Given the description of an element on the screen output the (x, y) to click on. 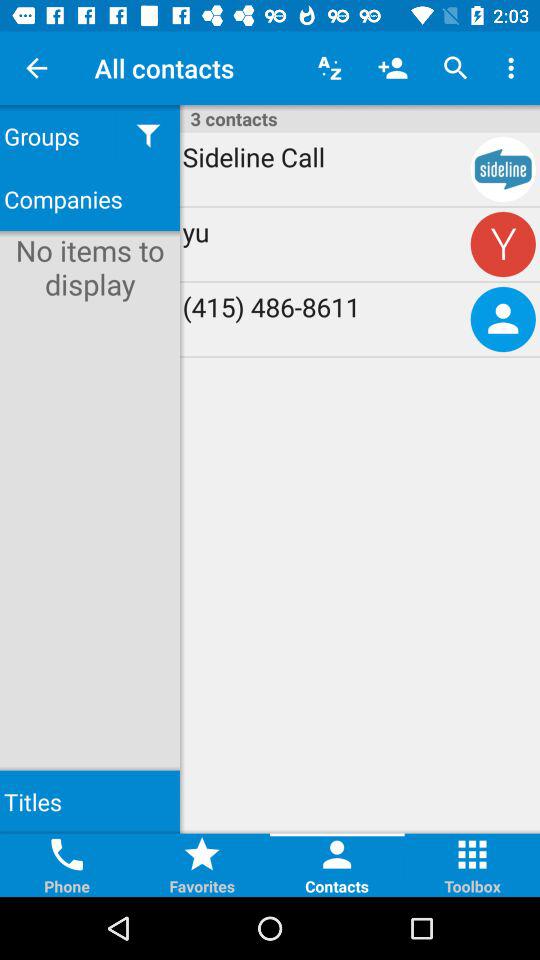
click icon next to all contacts icon (329, 67)
